Given the description of an element on the screen output the (x, y) to click on. 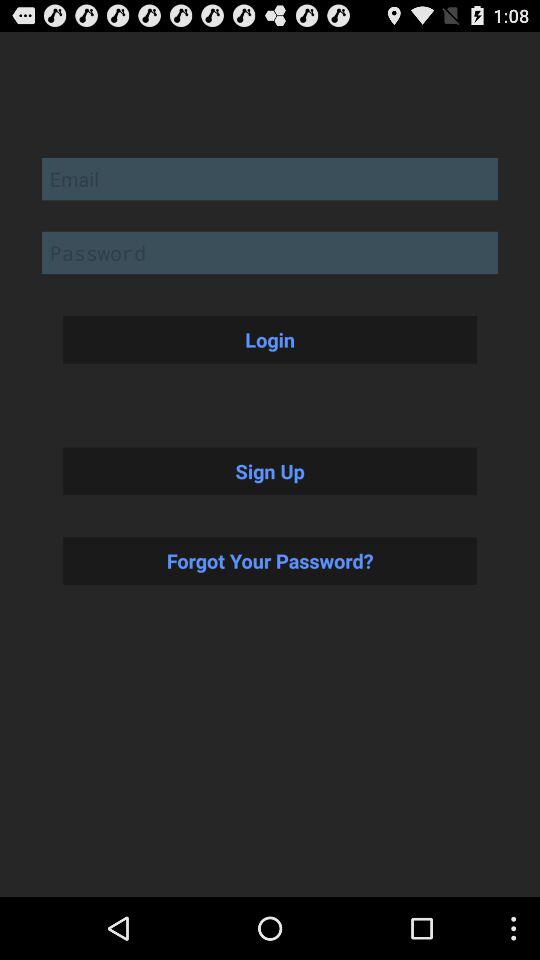
launch item above sign up icon (269, 339)
